Given the description of an element on the screen output the (x, y) to click on. 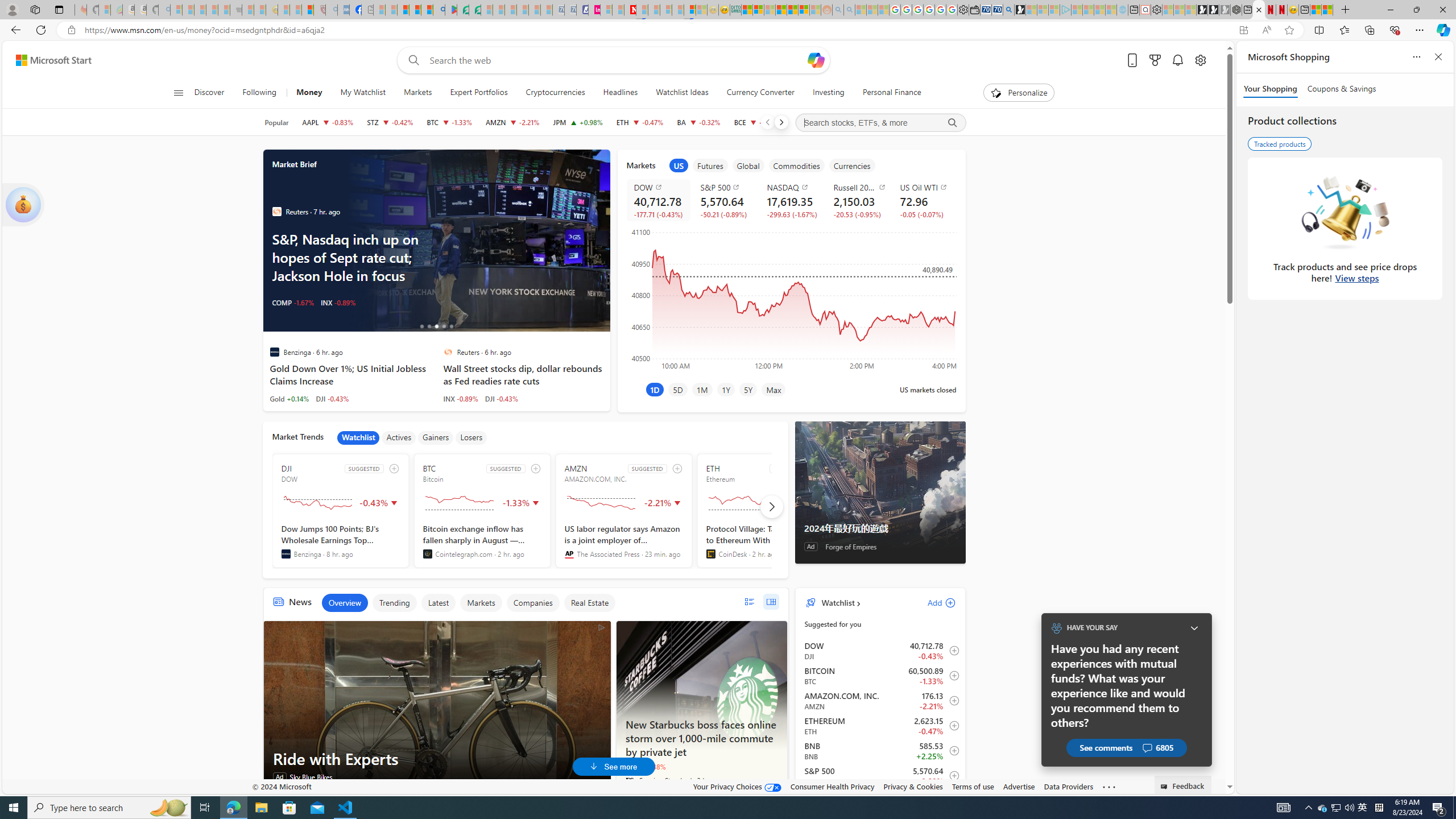
Latest Politics News & Archive | Newsweek.com (629, 9)
Home | Sky Blue Bikes - Sky Blue Bikes - Sleeping (1122, 9)
14 Common Myths Debunked By Scientific Facts - Sleeping (654, 9)
Watchlist (837, 602)
Gainers (435, 437)
Add (932, 602)
US Oil WTI USOIL decrease 72.96 -0.05 -0.07% (924, 200)
CoinDesk (710, 553)
